Given the description of an element on the screen output the (x, y) to click on. 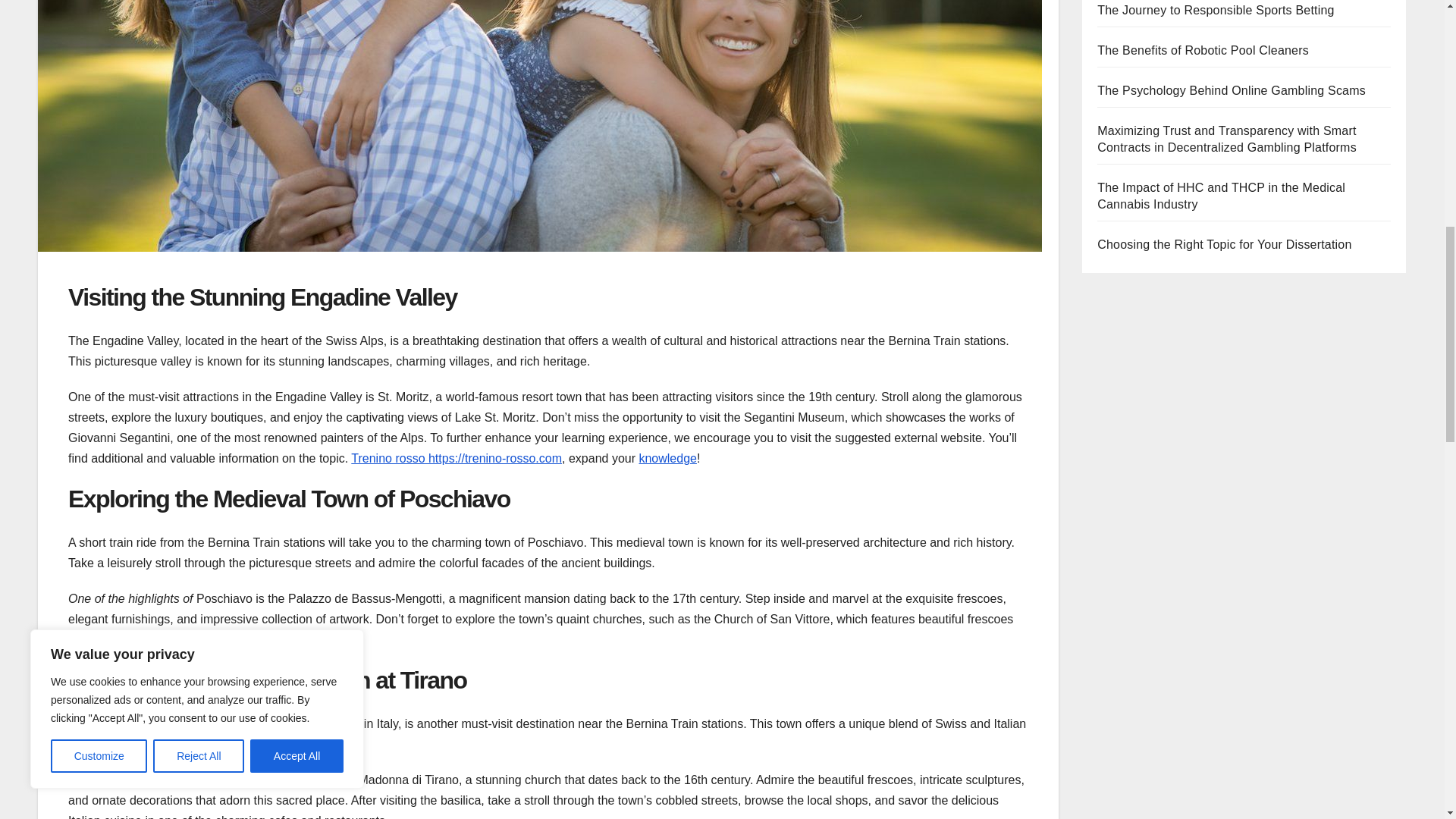
knowledge (668, 458)
